Given the description of an element on the screen output the (x, y) to click on. 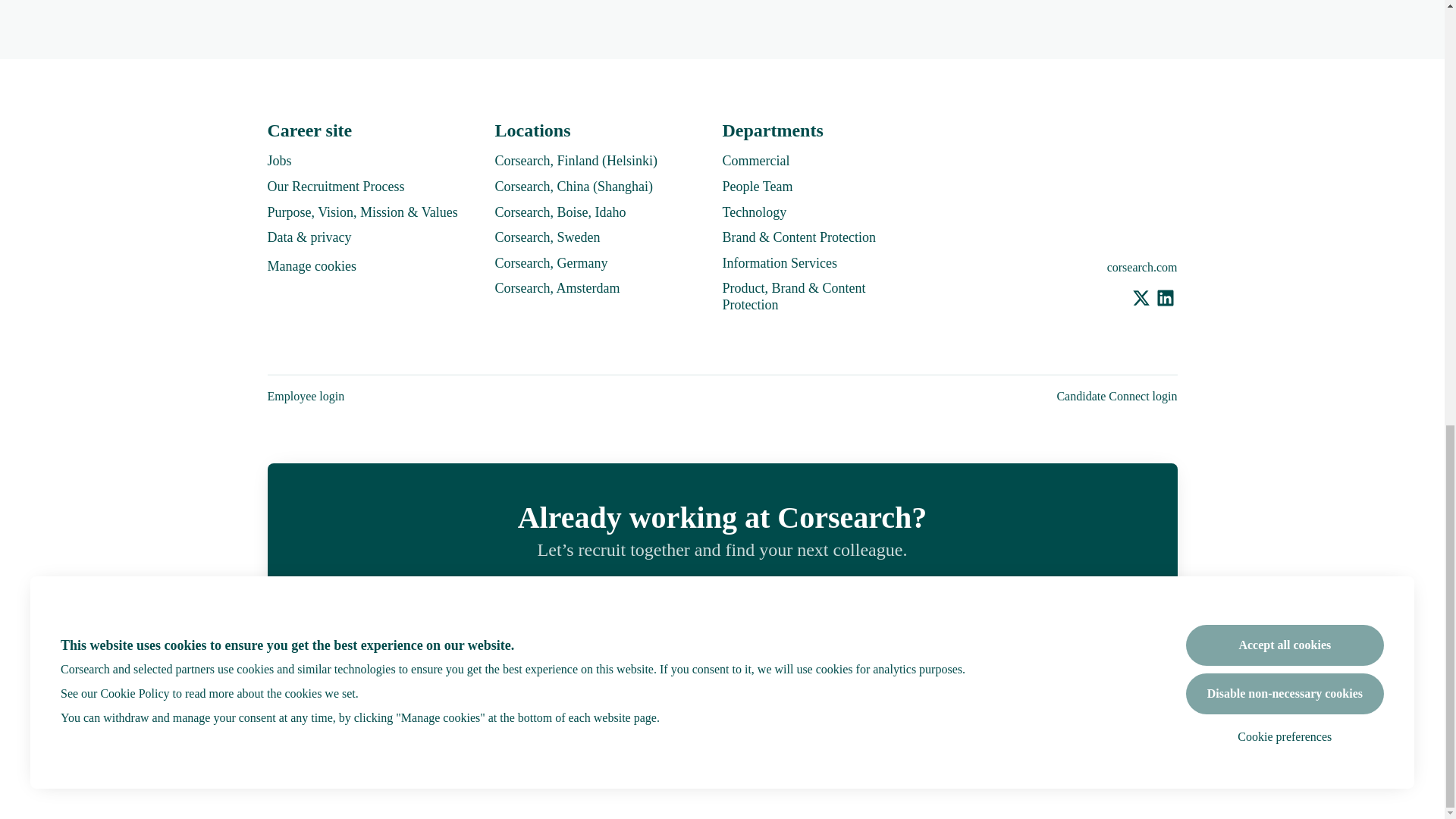
Corsearch, Amsterdam (557, 287)
Information Services (778, 262)
Technology (754, 211)
Jan-Maarten Laurijssen (908, 676)
Commercial (755, 160)
Sruthi Unnithan (759, 676)
corsearch.com (1141, 267)
Tyler Roberts (685, 676)
Angela Williams (834, 676)
Jobs (278, 160)
Manage cookies (310, 266)
Sharath Mendon (982, 676)
Corsearch, Boise, Idaho (560, 211)
David Jolicoeur (536, 676)
People Team (757, 186)
